Given the description of an element on the screen output the (x, y) to click on. 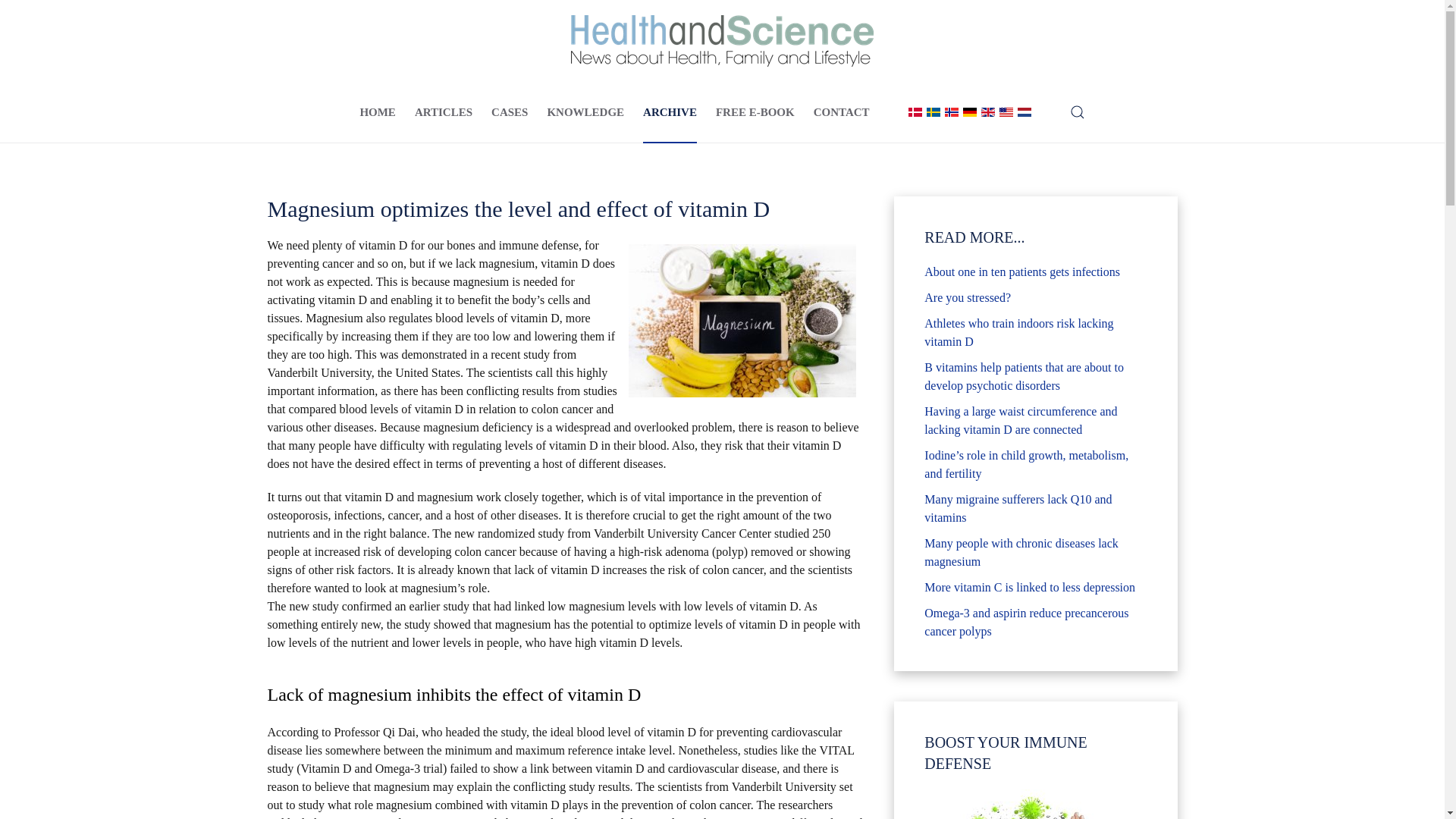
German (969, 112)
KNOWLEDGE (585, 111)
Magnesium optimizes the level and effect of vitamin D (742, 320)
BOOST YOUR IMMUNE DEFENSE (1034, 804)
Dansk (914, 112)
CONTACT (841, 111)
ARTICLES (442, 111)
Dutch (1023, 112)
FREE E-BOOK (755, 111)
